Given the description of an element on the screen output the (x, y) to click on. 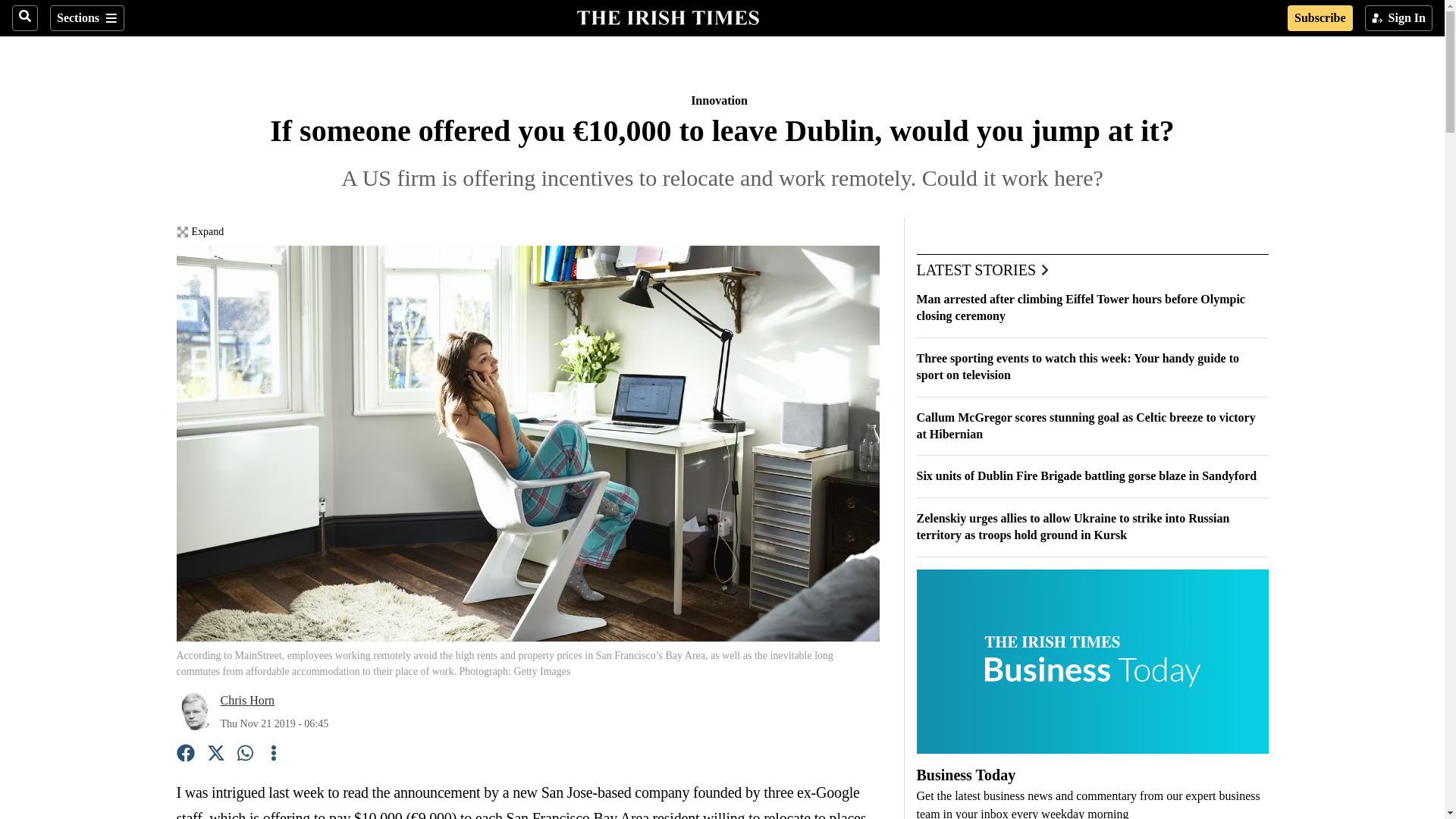
Sections (86, 17)
The Irish Times (667, 16)
Sign In (1398, 17)
Subscribe (1319, 17)
